Given the description of an element on the screen output the (x, y) to click on. 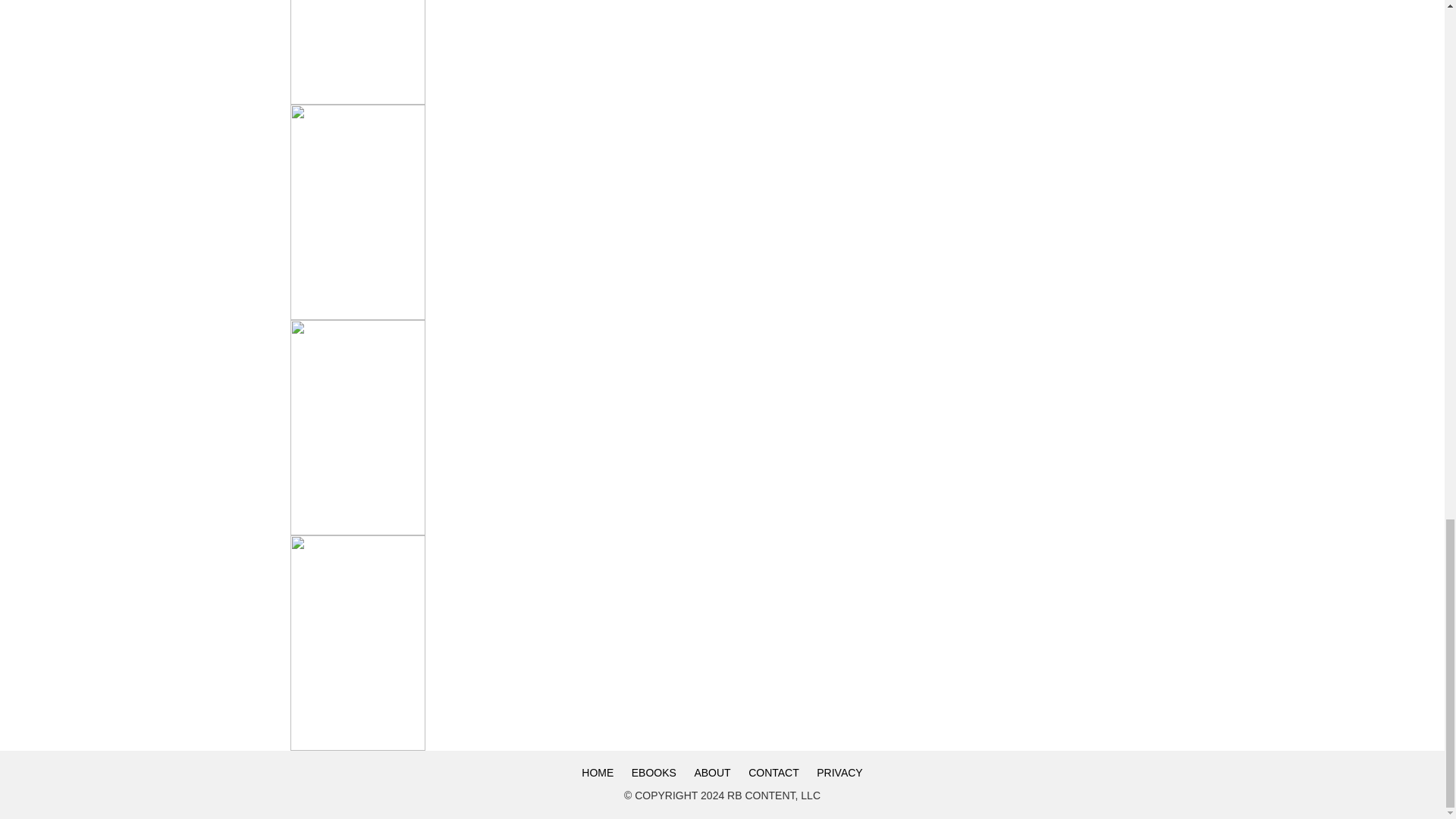
EBOOKS (654, 772)
HOME (597, 772)
ABOUT (711, 772)
CONTACT (773, 772)
PRIVACY (839, 772)
